Given the description of an element on the screen output the (x, y) to click on. 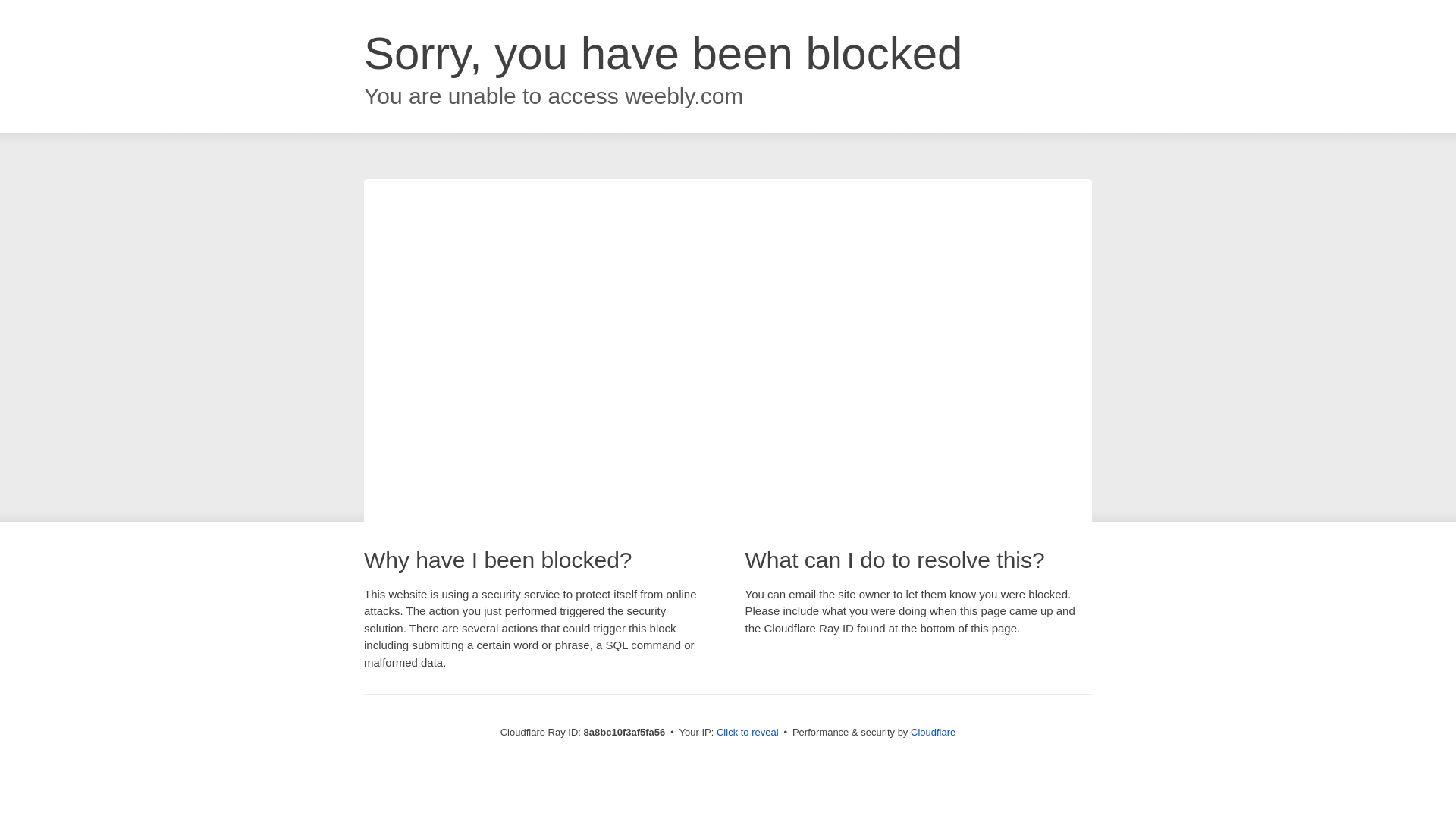
Click to reveal (747, 732)
Cloudflare (933, 731)
